Given the description of an element on the screen output the (x, y) to click on. 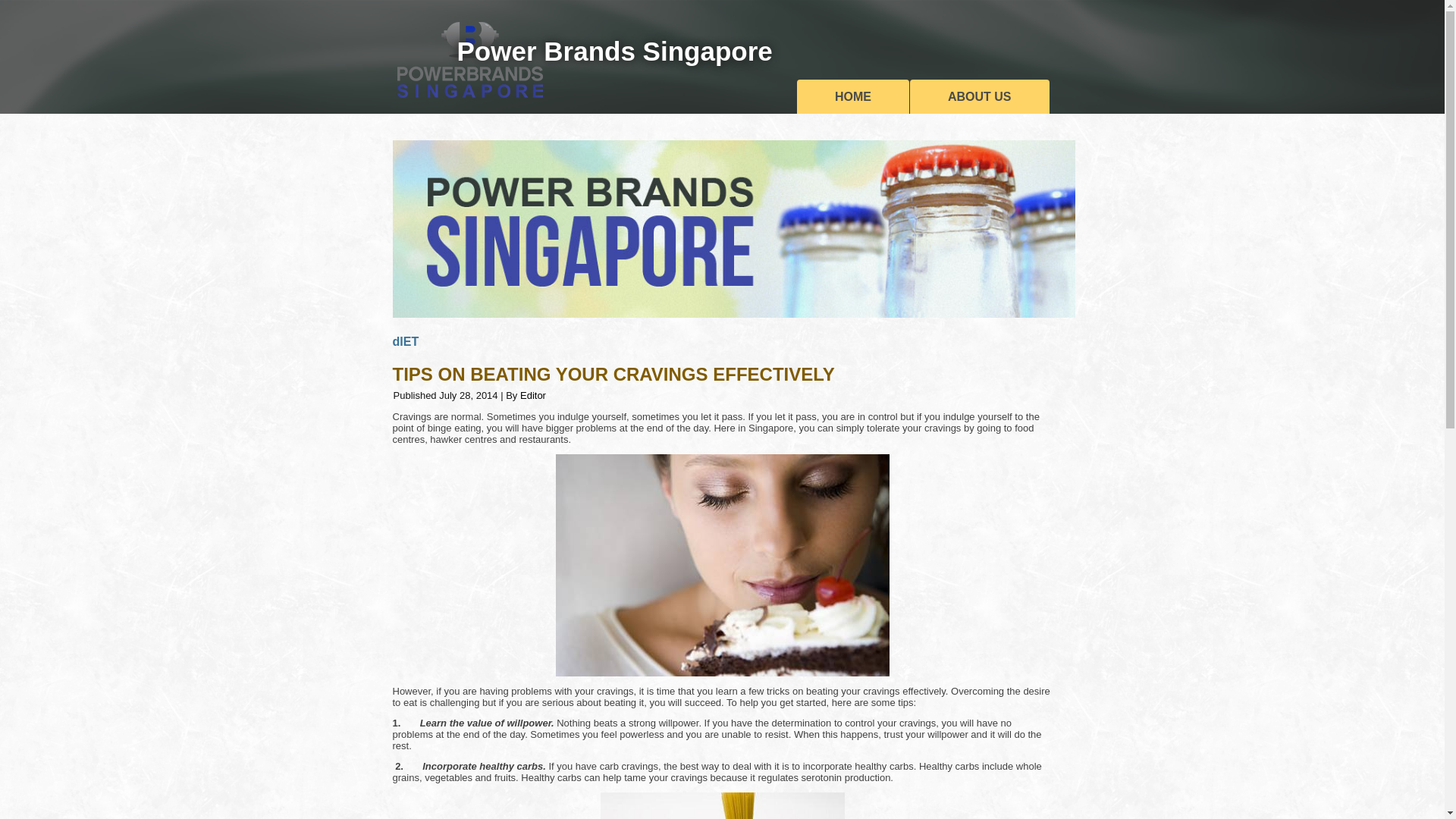
Power Brands Singapore (615, 51)
Home (852, 96)
ABOUT US (979, 96)
View all posts by Editor (532, 395)
Tips on Beating Your Cravings Effectively (613, 373)
5:48 am (468, 395)
TIPS ON BEATING YOUR CRAVINGS EFFECTIVELY (613, 373)
Editor (532, 395)
About Us (979, 96)
HOME (852, 96)
